Given the description of an element on the screen output the (x, y) to click on. 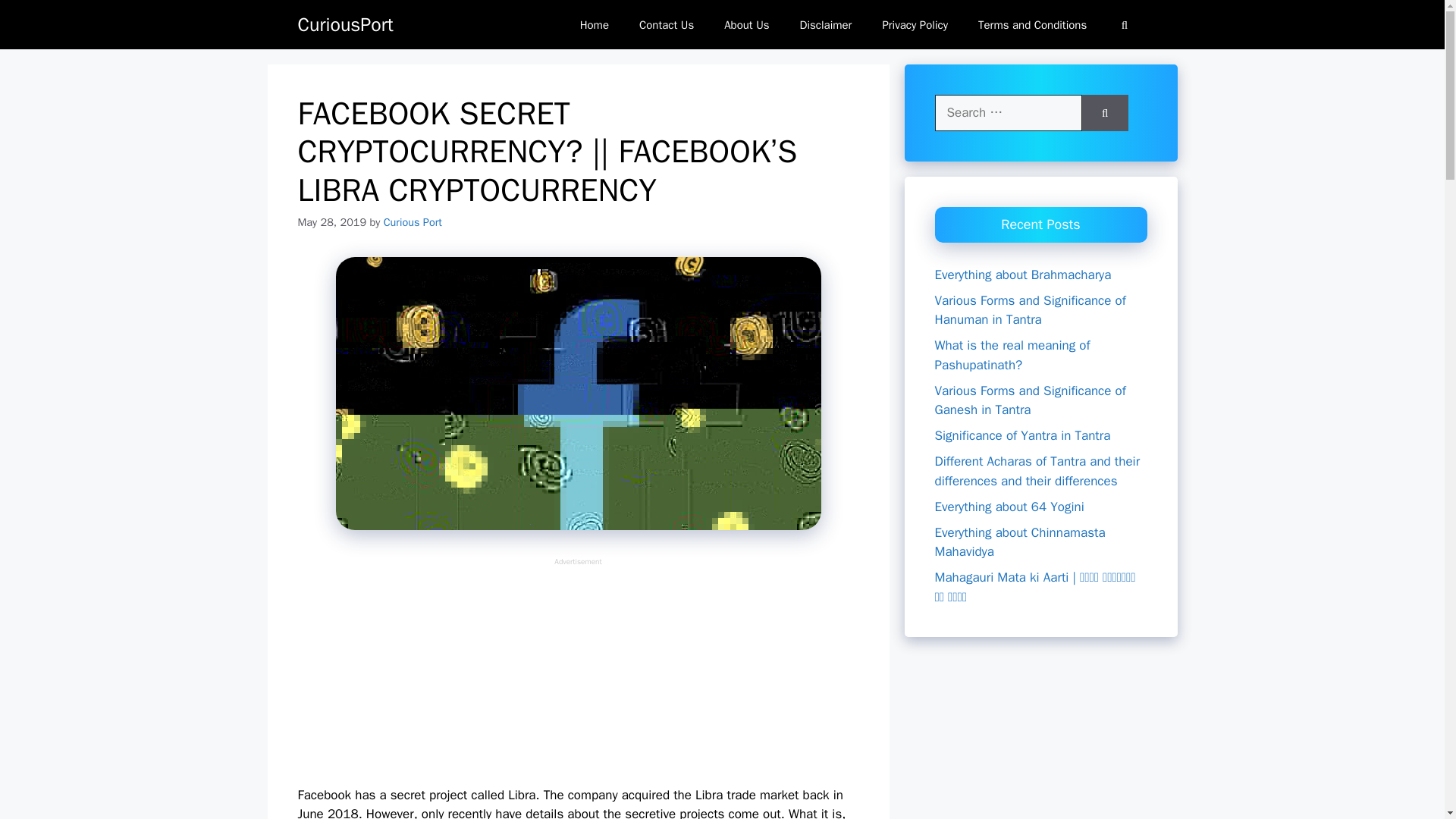
Privacy Policy (914, 23)
Everything about Chinnamasta Mahavidya (1019, 542)
Disclaimer (825, 23)
Various Forms and Significance of Ganesh in Tantra (1029, 399)
View all posts by Curious Port (413, 222)
Terms and Conditions (1032, 23)
Curious Port (413, 222)
Home (594, 23)
Everything about 64 Yogini (1008, 506)
Contact Us (666, 23)
